Given the description of an element on the screen output the (x, y) to click on. 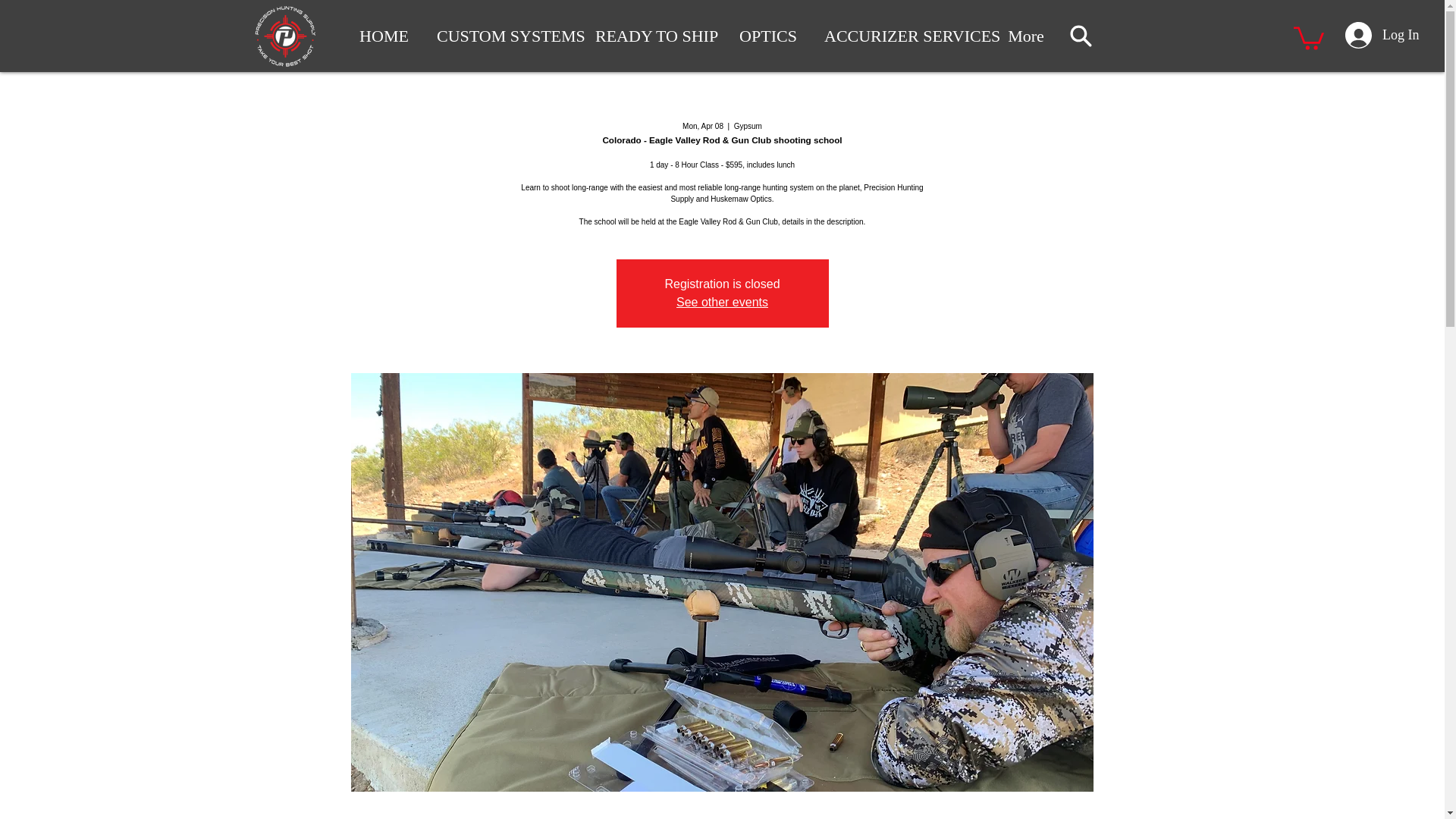
ACCURIZER SERVICES (900, 35)
See other events (722, 301)
HOME (383, 35)
Log In (1376, 35)
